Given the description of an element on the screen output the (x, y) to click on. 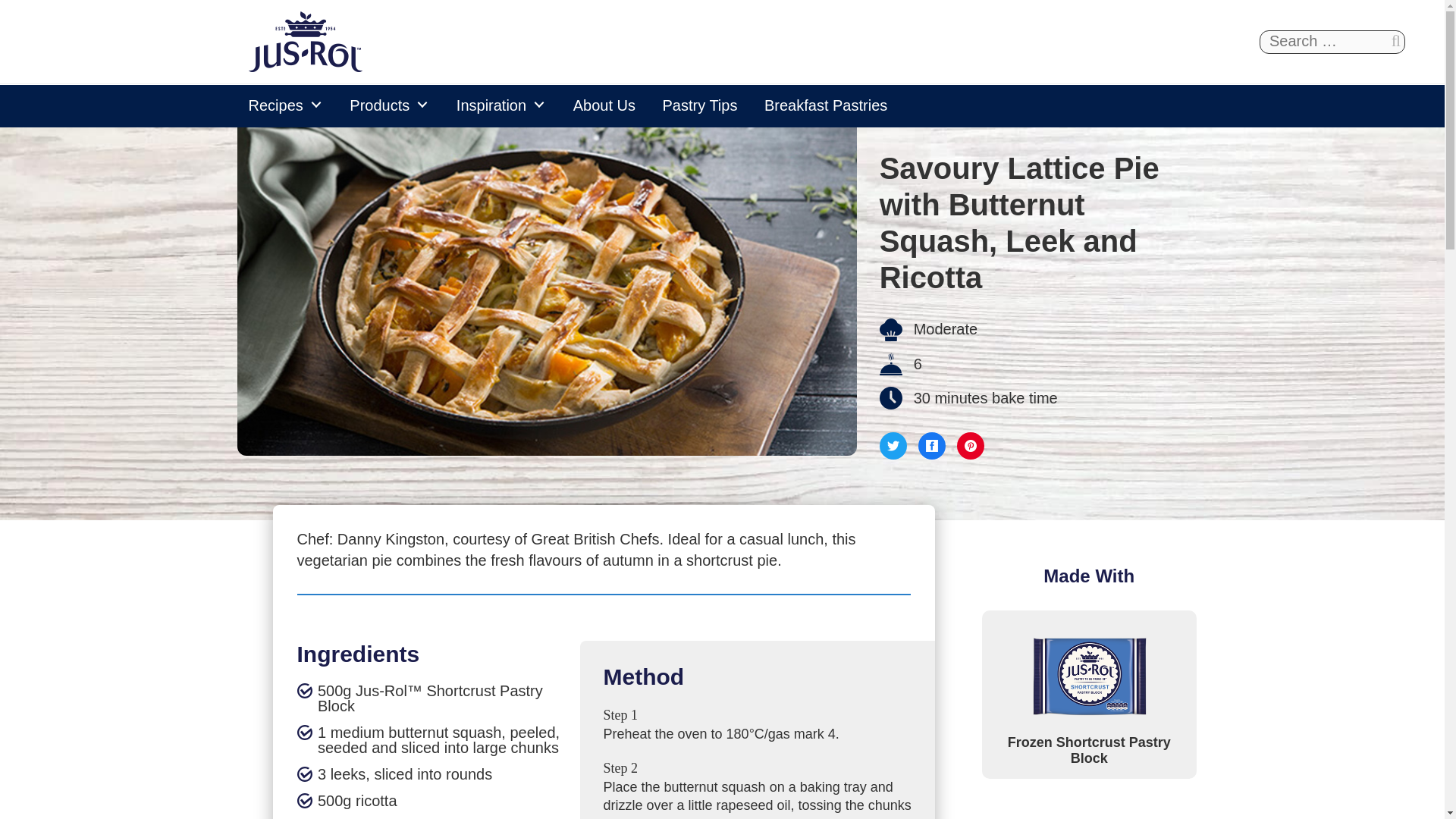
Products (389, 105)
Recipes (286, 105)
Search (1396, 40)
